Given the description of an element on the screen output the (x, y) to click on. 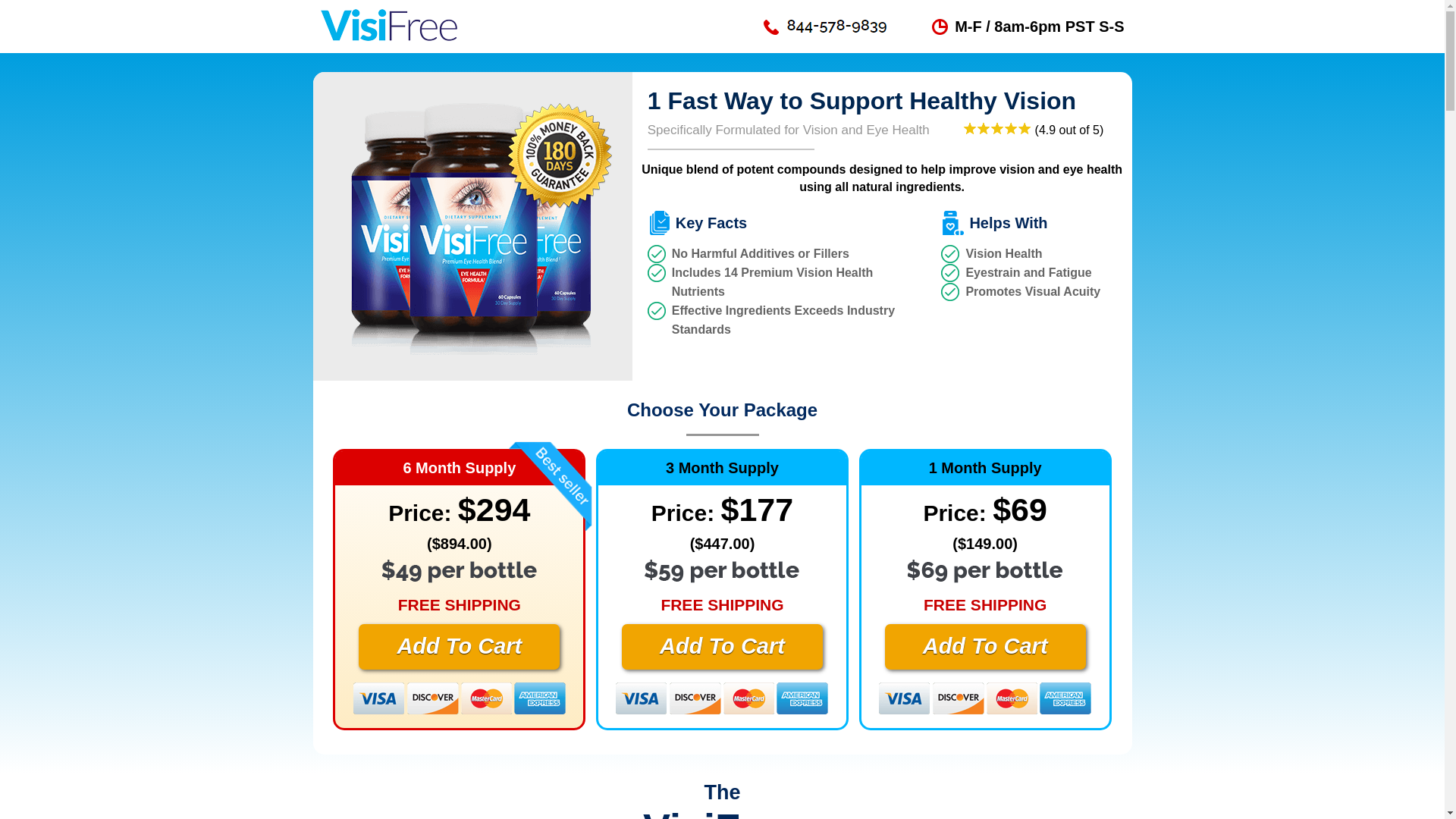
Add To Cart (721, 646)
Add To Cart (458, 646)
Add To Cart (985, 646)
